Given the description of an element on the screen output the (x, y) to click on. 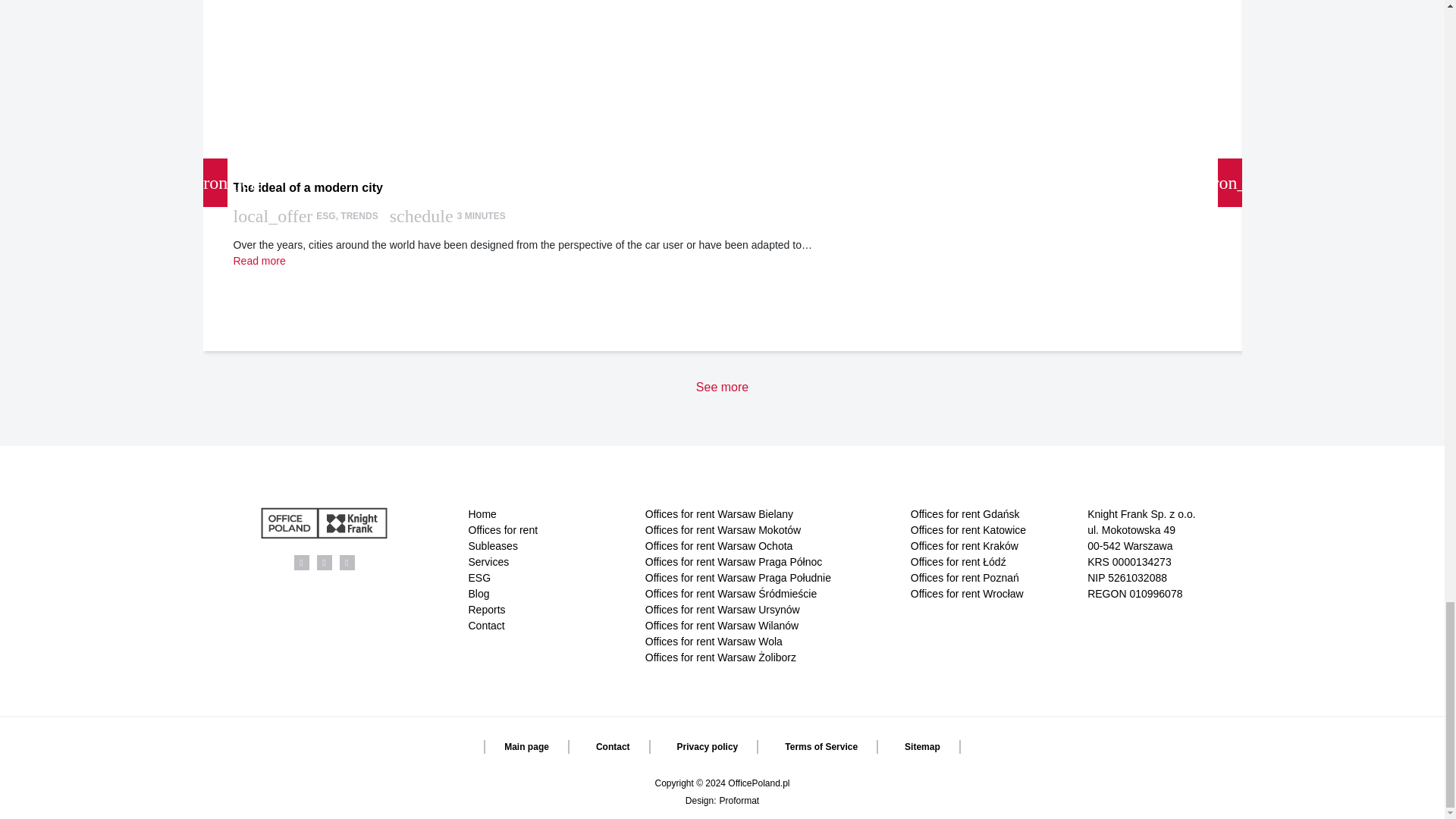
Home (545, 514)
Subleases (545, 546)
Sitemap (922, 746)
ESG (545, 578)
The ideal of a modern city (721, 187)
Blog (545, 593)
TRENDS (358, 215)
Read more (258, 260)
Contact (613, 746)
See more (722, 387)
Terms of Service (821, 746)
Agencja Interaktywna Proformat (738, 800)
Offices for rent (545, 530)
Reports (545, 609)
Main page (526, 746)
